Given the description of an element on the screen output the (x, y) to click on. 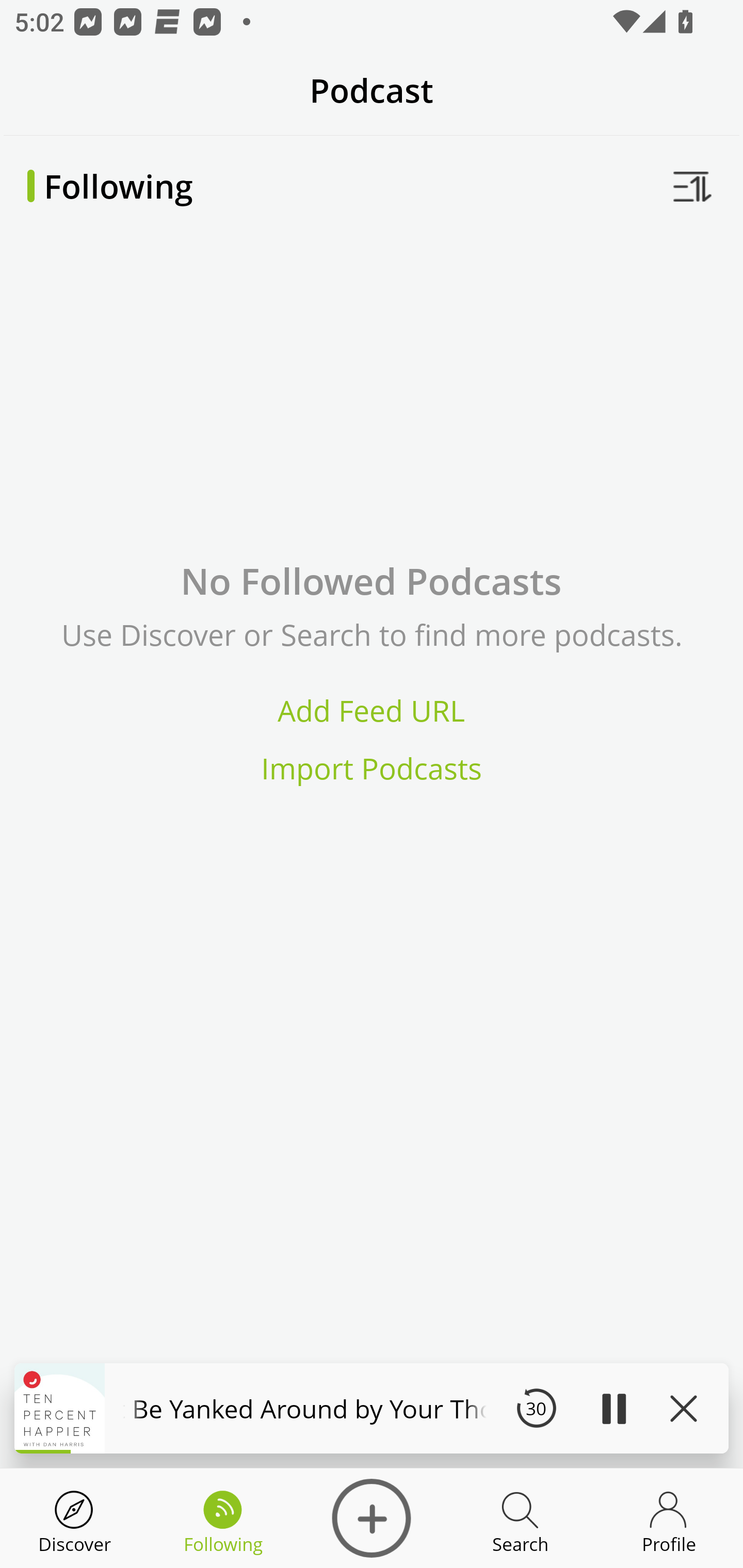
Add Feed URL (371, 709)
Import Podcasts (371, 767)
Play (613, 1407)
30 Seek Backward (536, 1407)
Discover (74, 1518)
Discover (371, 1518)
Discover Search (519, 1518)
Discover Profile (668, 1518)
